Given the description of an element on the screen output the (x, y) to click on. 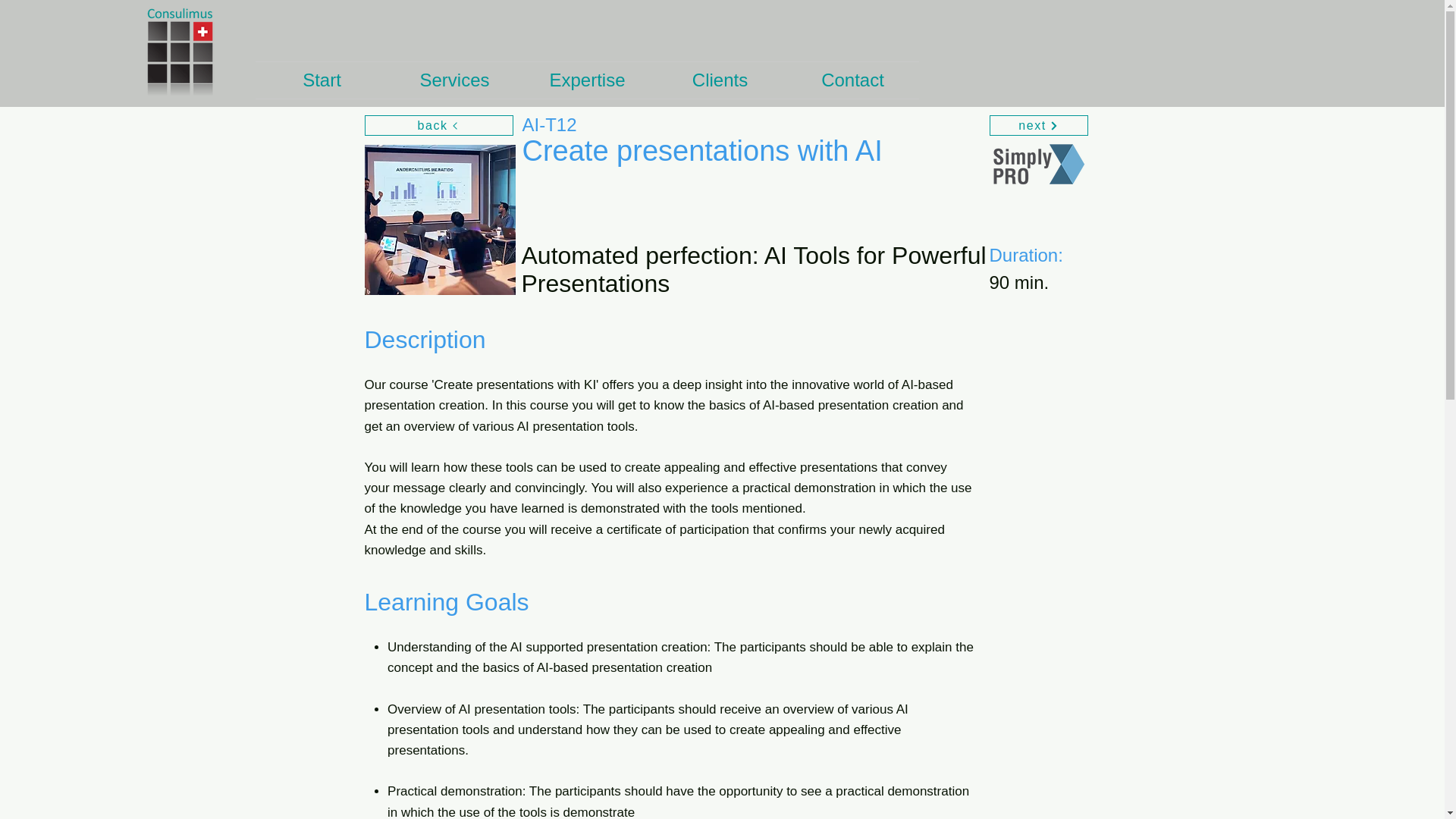
Start (322, 80)
back (438, 125)
Clients (719, 80)
Expertise (587, 80)
next (1037, 125)
Contact (852, 80)
Services (454, 80)
